Given the description of an element on the screen output the (x, y) to click on. 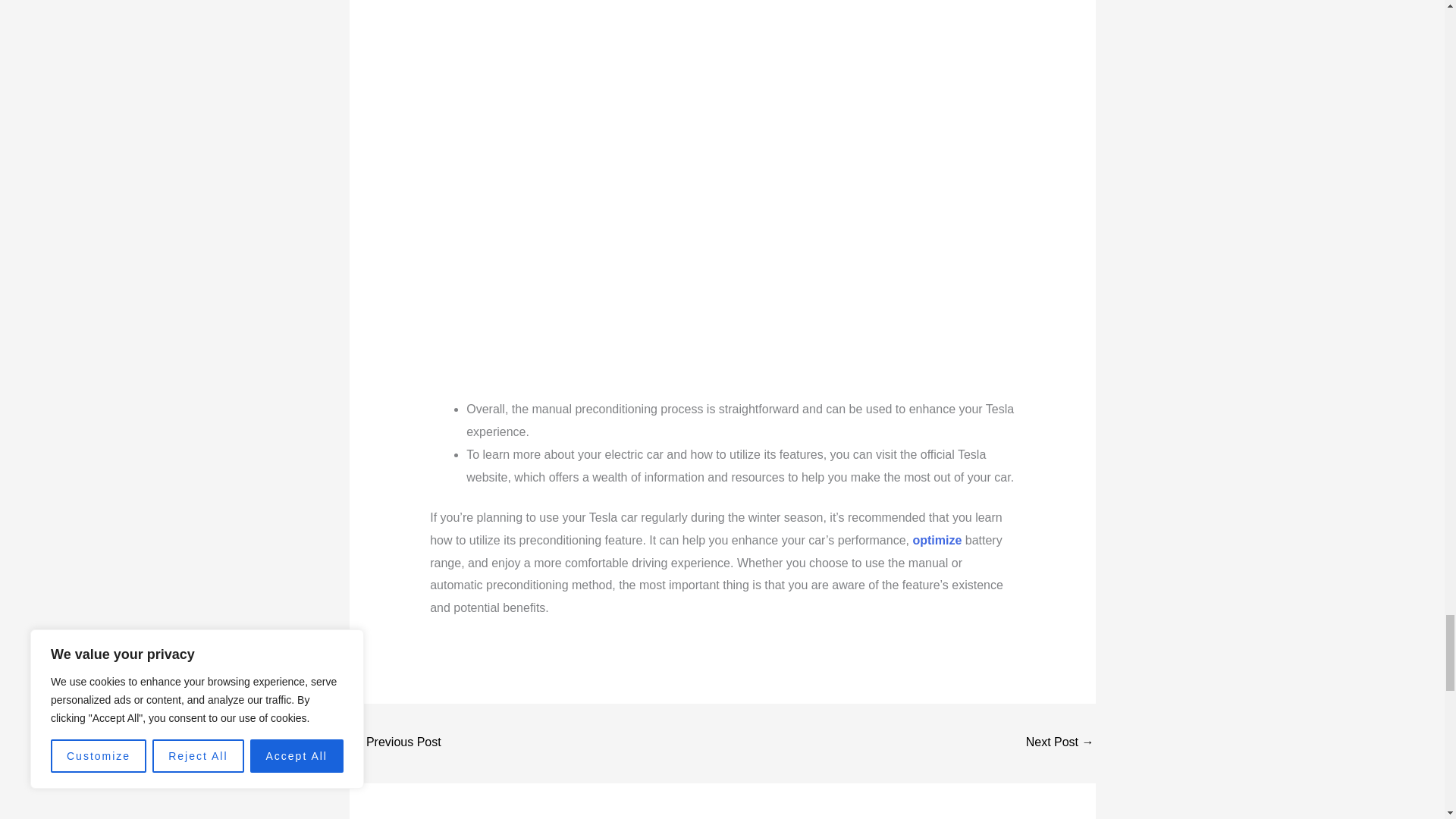
Who Makes Duralast Batteries? (1060, 743)
Do Batteries Expire? (395, 743)
